Given the description of an element on the screen output the (x, y) to click on. 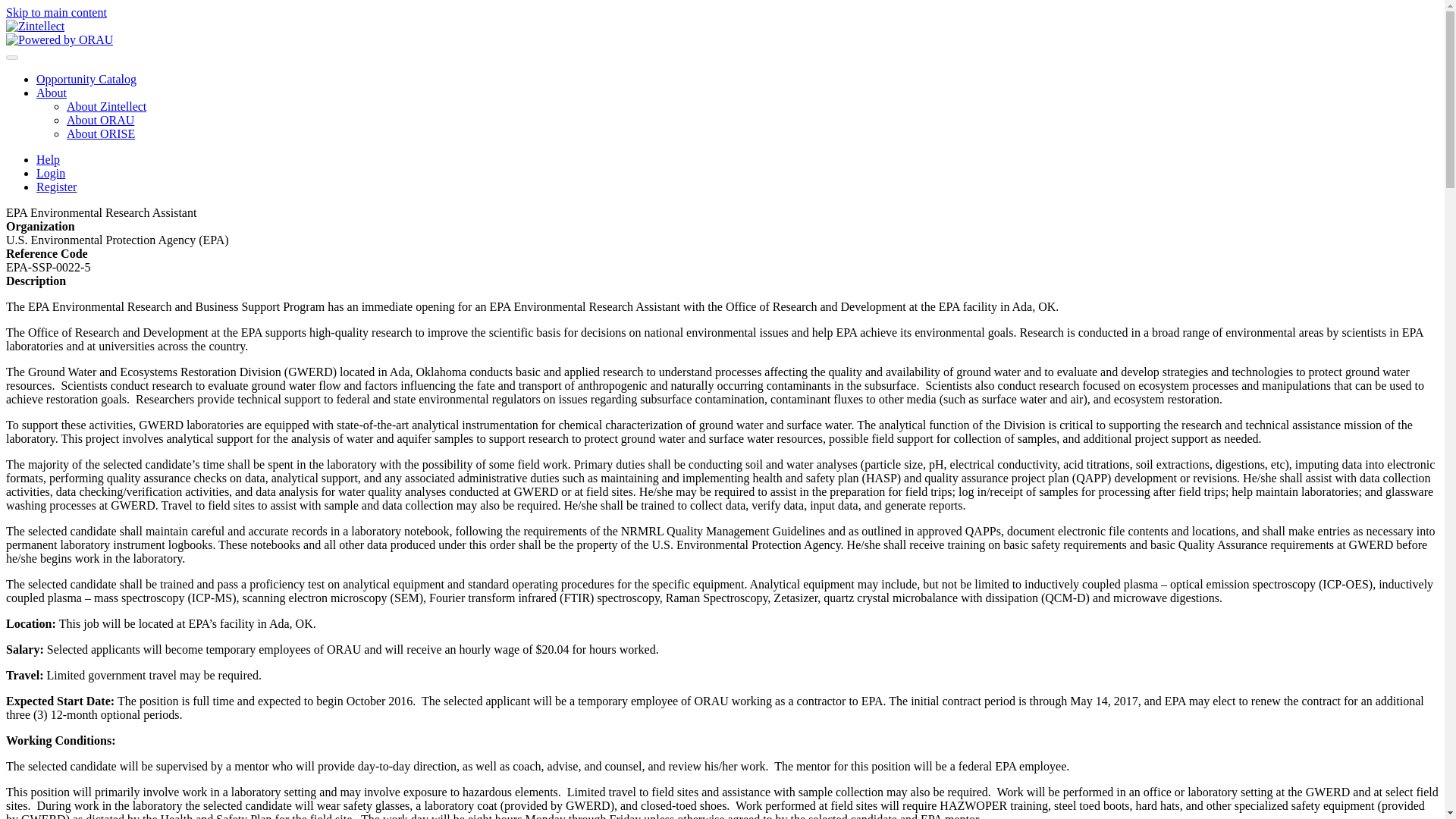
Help (47, 159)
About ORAU (99, 119)
Powered by ORAU (59, 39)
About Zintellect (106, 106)
About (51, 92)
Register (56, 186)
About ORISE (100, 133)
Login (50, 173)
Opportunity Catalog (86, 78)
Skip to main content (55, 11)
